Given the description of an element on the screen output the (x, y) to click on. 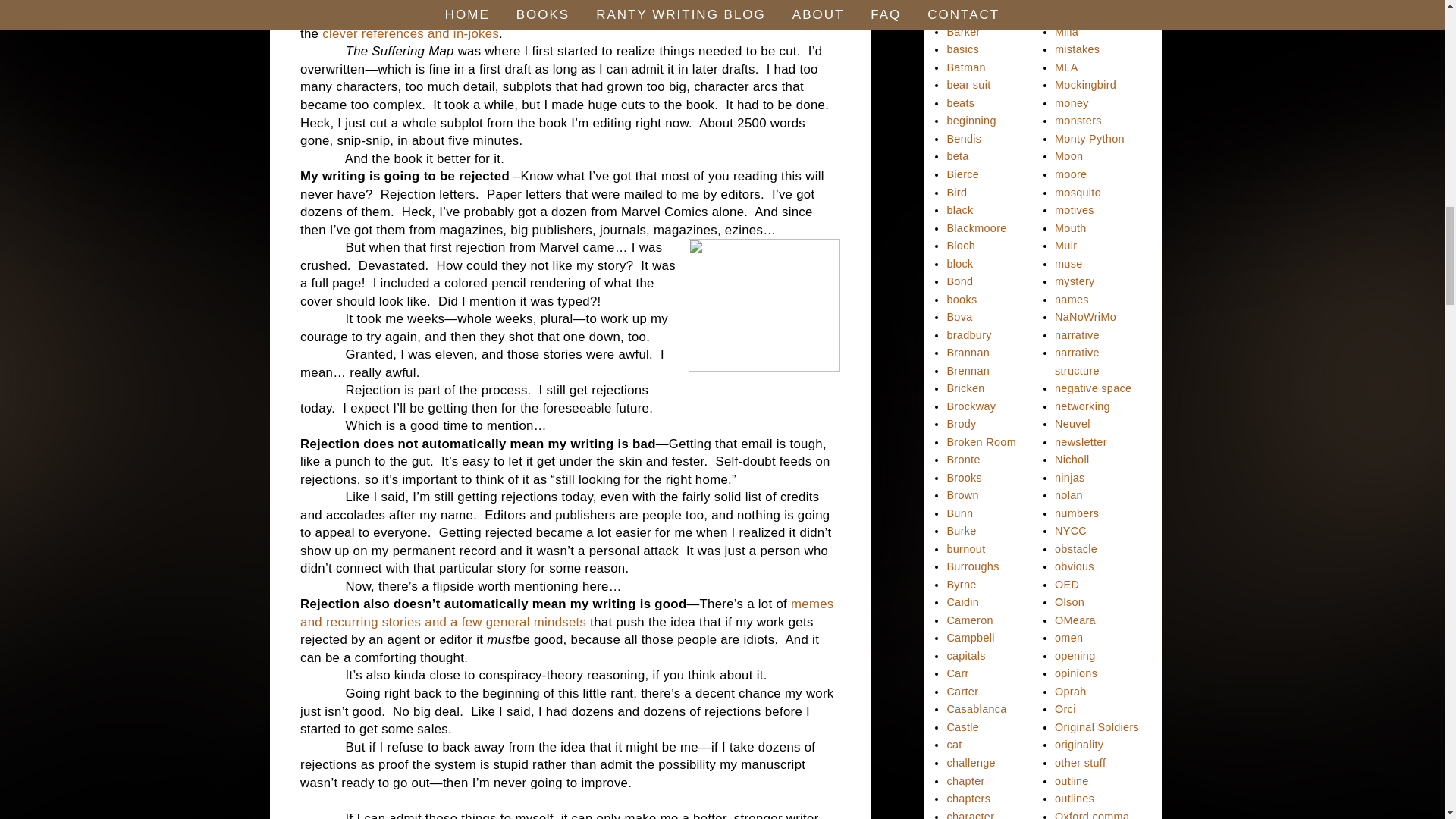
memes and recurring stories and a few general mindsets (565, 613)
clever references and in-jokes (410, 33)
subplot (513, 15)
action detail (613, 15)
